Given the description of an element on the screen output the (x, y) to click on. 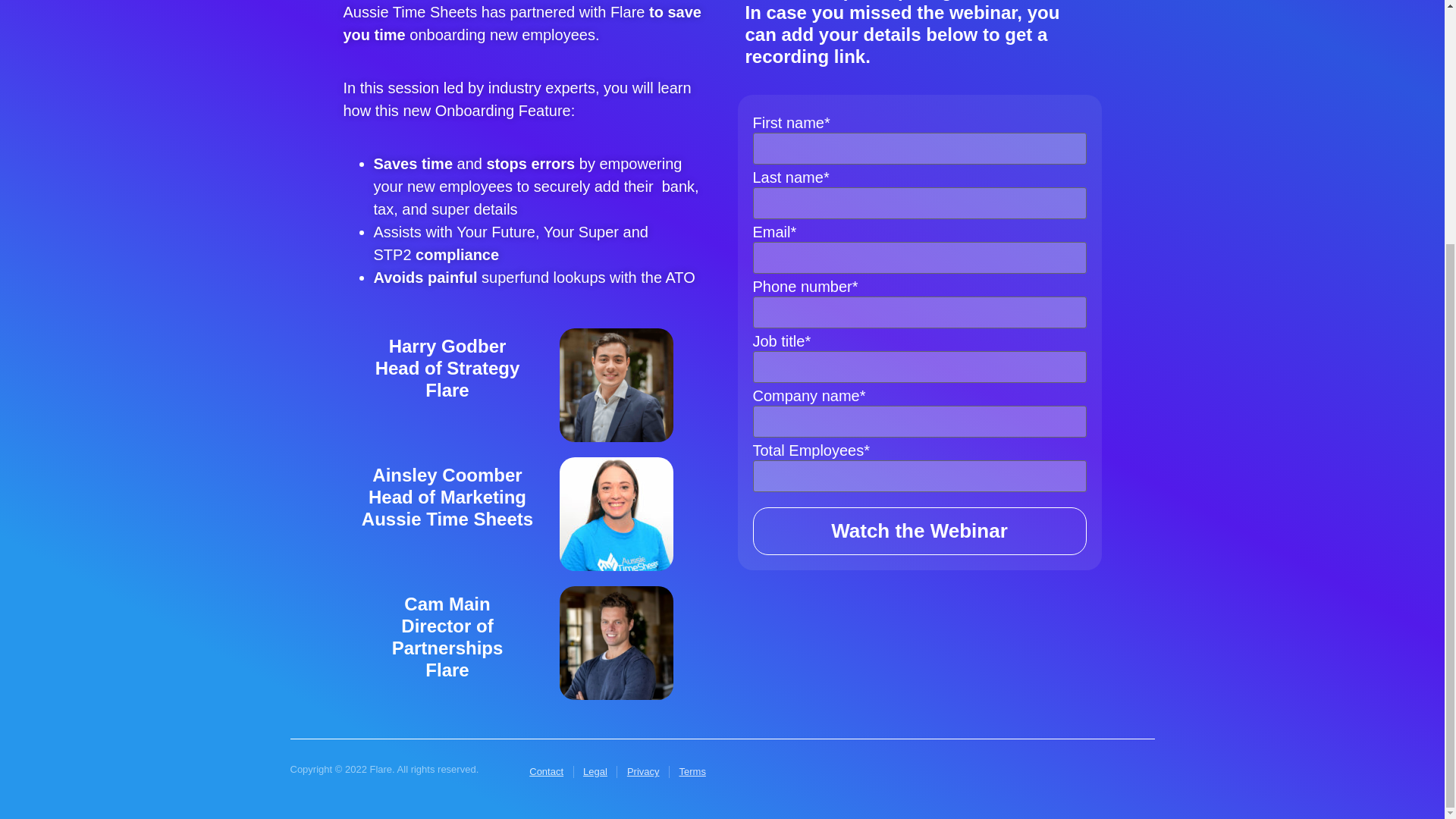
Terms (691, 771)
Legal (595, 771)
Watch the Webinar (919, 530)
Privacy (643, 771)
Contact (546, 771)
Watch the Webinar (919, 530)
